Given the description of an element on the screen output the (x, y) to click on. 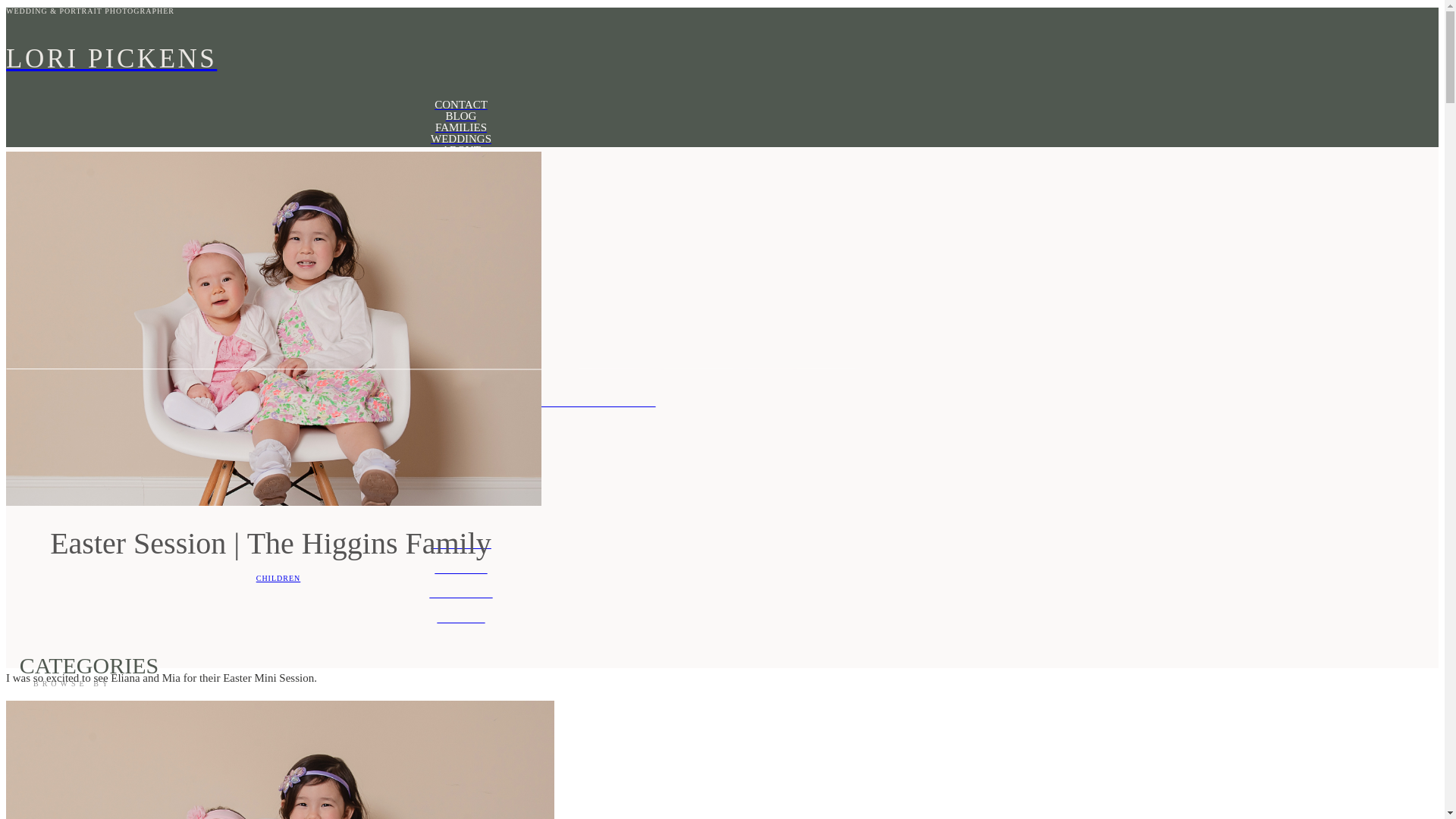
BLOG (460, 116)
WEDDINGS (460, 544)
Ready to pick your date?  (460, 343)
CONTACT (460, 104)
LORI PICKENS (460, 58)
BOOK ONLINE! (460, 359)
WEDDINGS (460, 138)
ABOUT (460, 150)
FOR PHOTOGS (460, 291)
 NEWBORN (460, 195)
SENIORS (460, 618)
MATERNITY (460, 173)
CHILDREN (278, 578)
HOME (460, 161)
FAMILIES (460, 127)
